Given the description of an element on the screen output the (x, y) to click on. 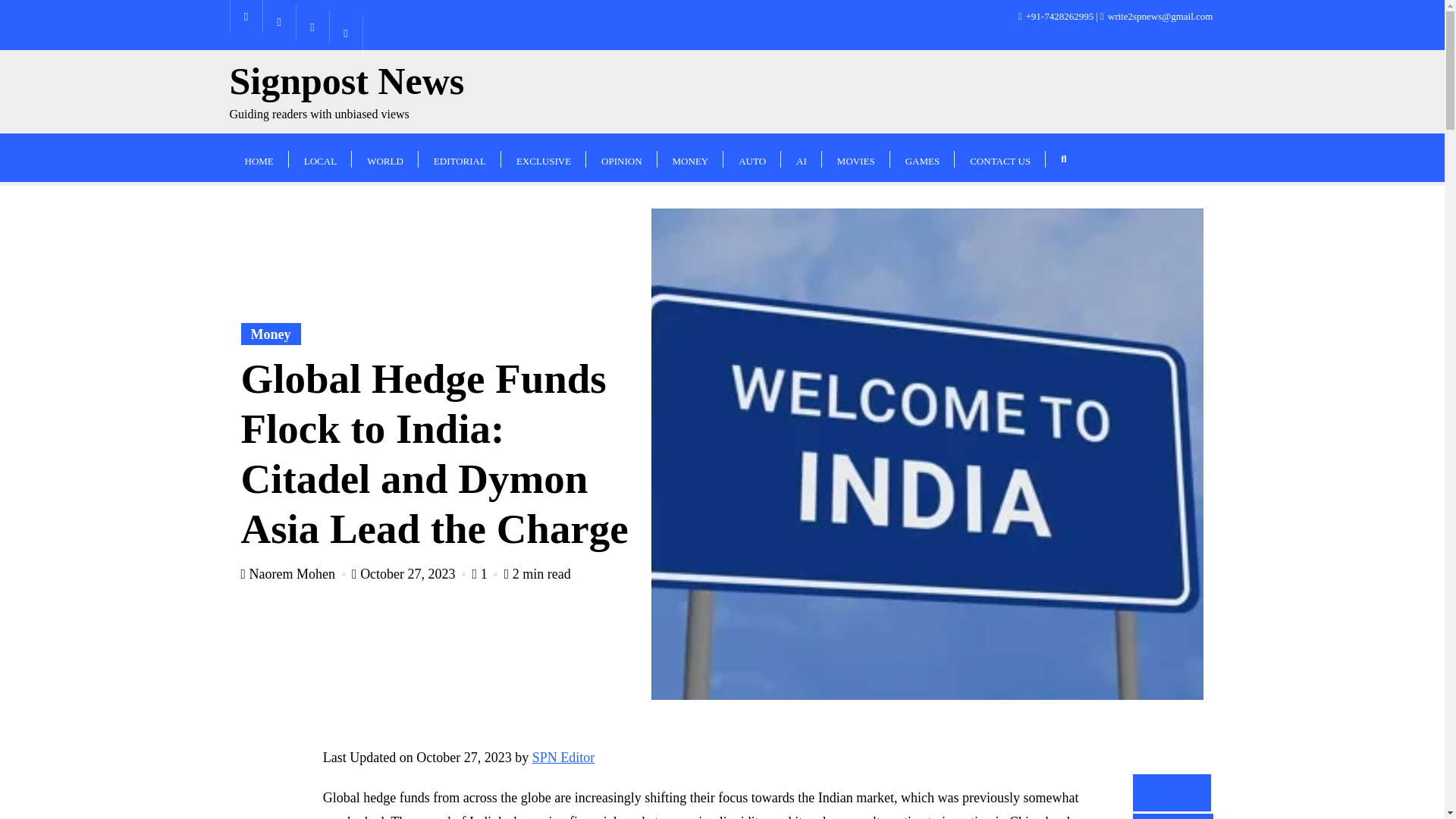
OPINION (621, 156)
October 27, 2023 (410, 573)
WORLD (385, 156)
Naorem Mohen (346, 91)
Money (295, 573)
GAMES (271, 333)
AUTO (922, 156)
MONEY (751, 156)
MOVIES (690, 156)
